Given the description of an element on the screen output the (x, y) to click on. 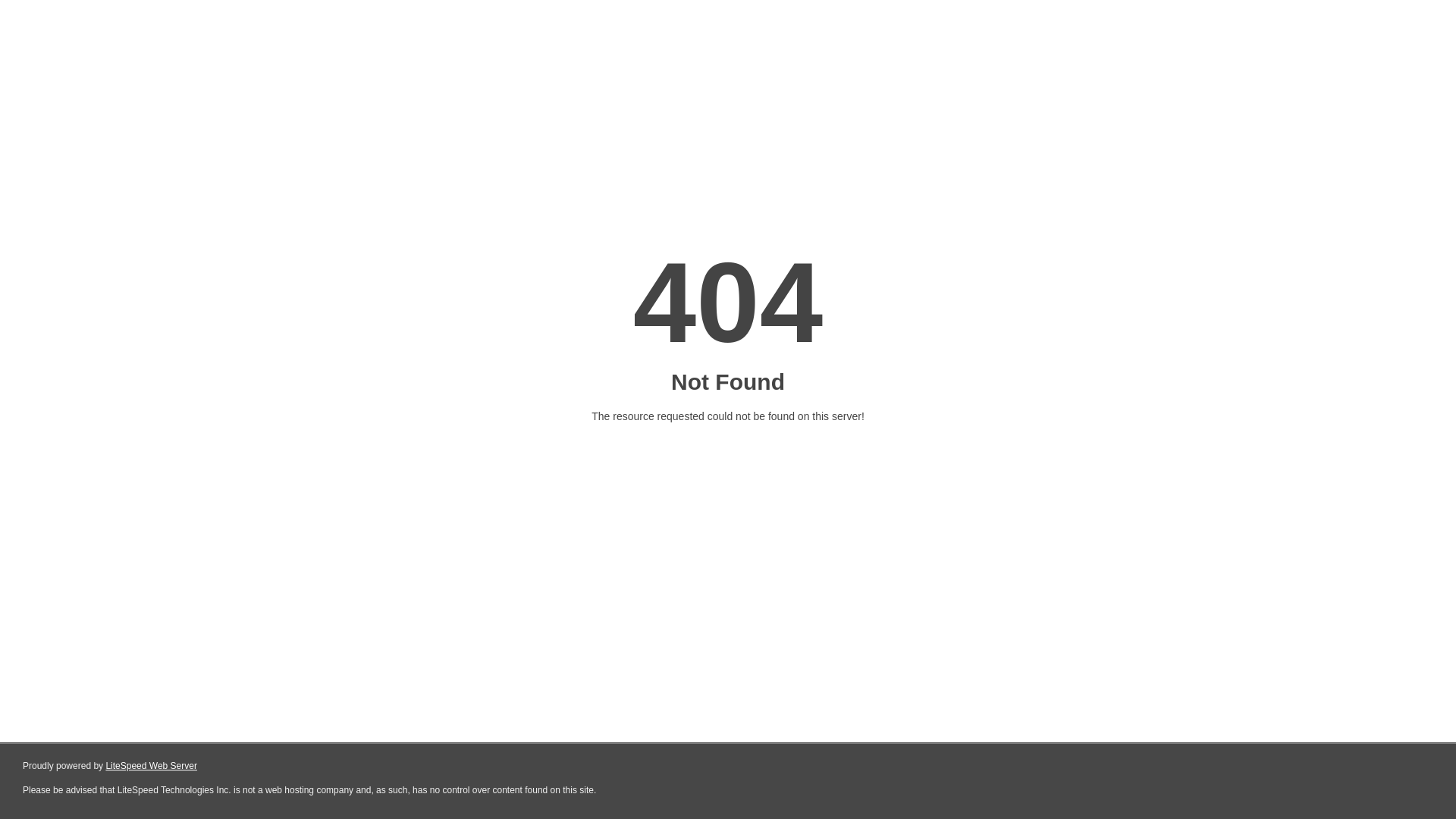
LiteSpeed Web Server Element type: text (151, 765)
